Given the description of an element on the screen output the (x, y) to click on. 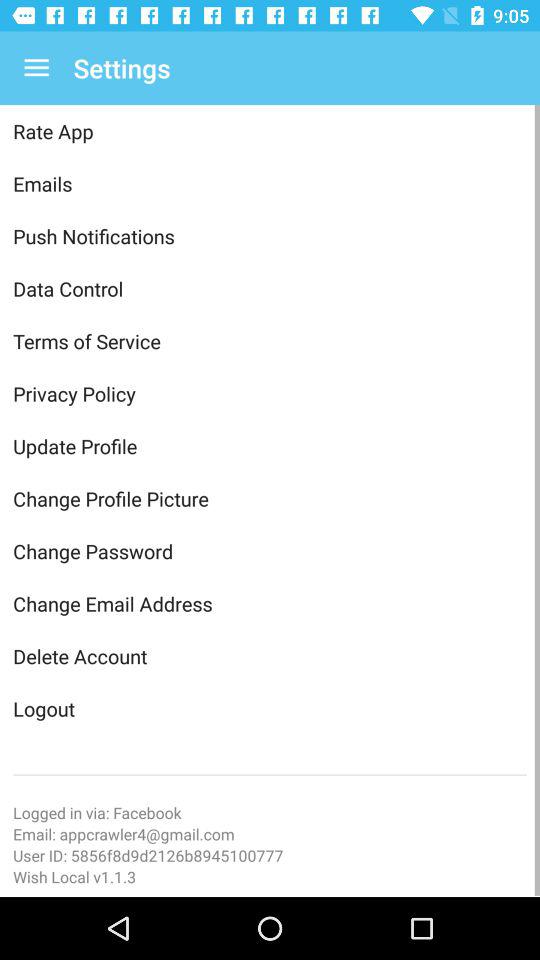
flip to privacy policy (269, 393)
